Given the description of an element on the screen output the (x, y) to click on. 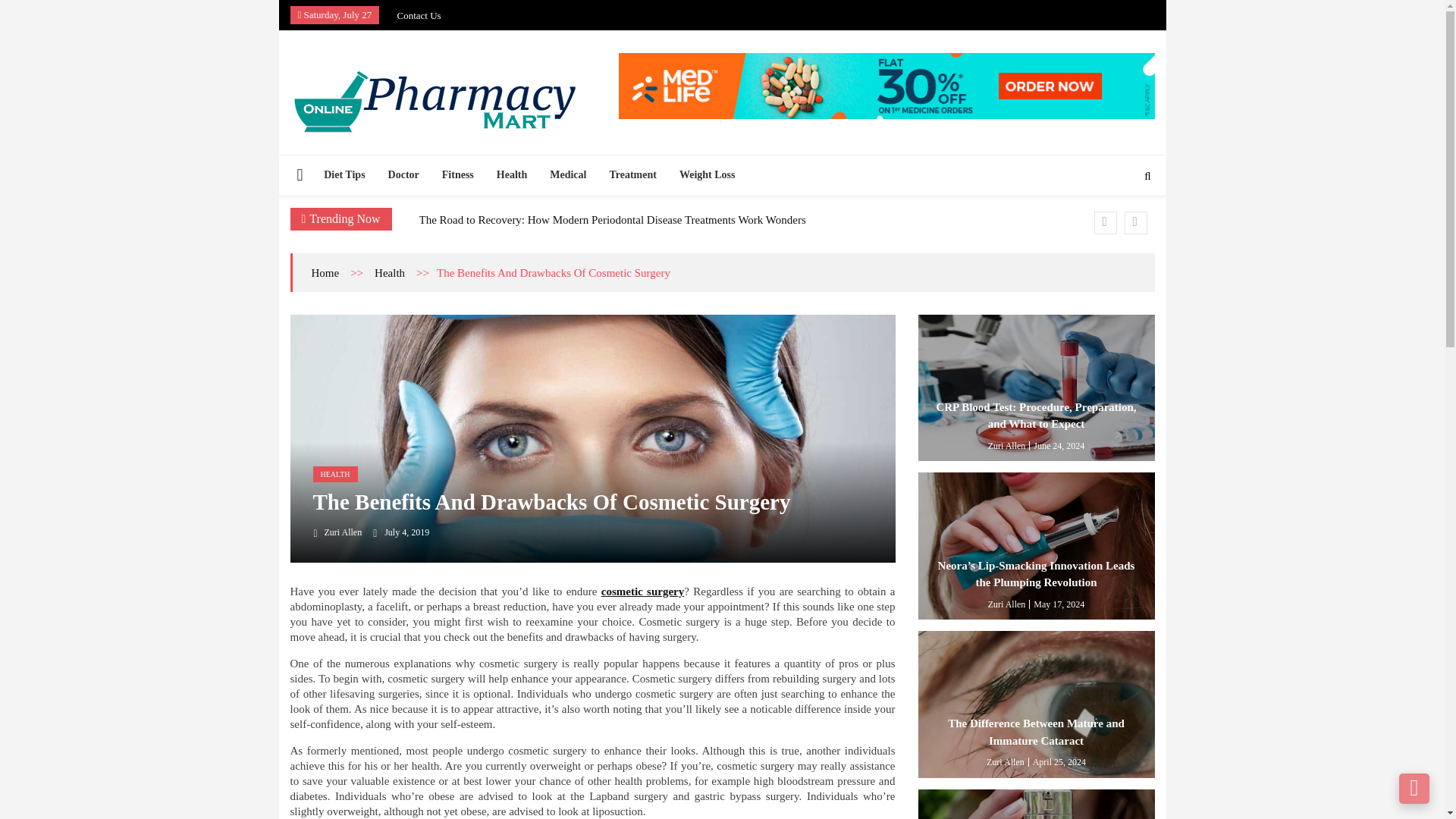
Search (1122, 222)
The Difference Between Mature and Immature Cataract (1035, 704)
Health (389, 272)
Weight Loss (707, 173)
Treatment (631, 173)
CRP Blood Test: Procedure, Preparation, and What to Expect (1035, 387)
Home (325, 272)
Diet Tips (344, 173)
Doctor (403, 173)
Contact Us (419, 15)
Fitness (457, 173)
Health (511, 173)
Medical (567, 173)
